Given the description of an element on the screen output the (x, y) to click on. 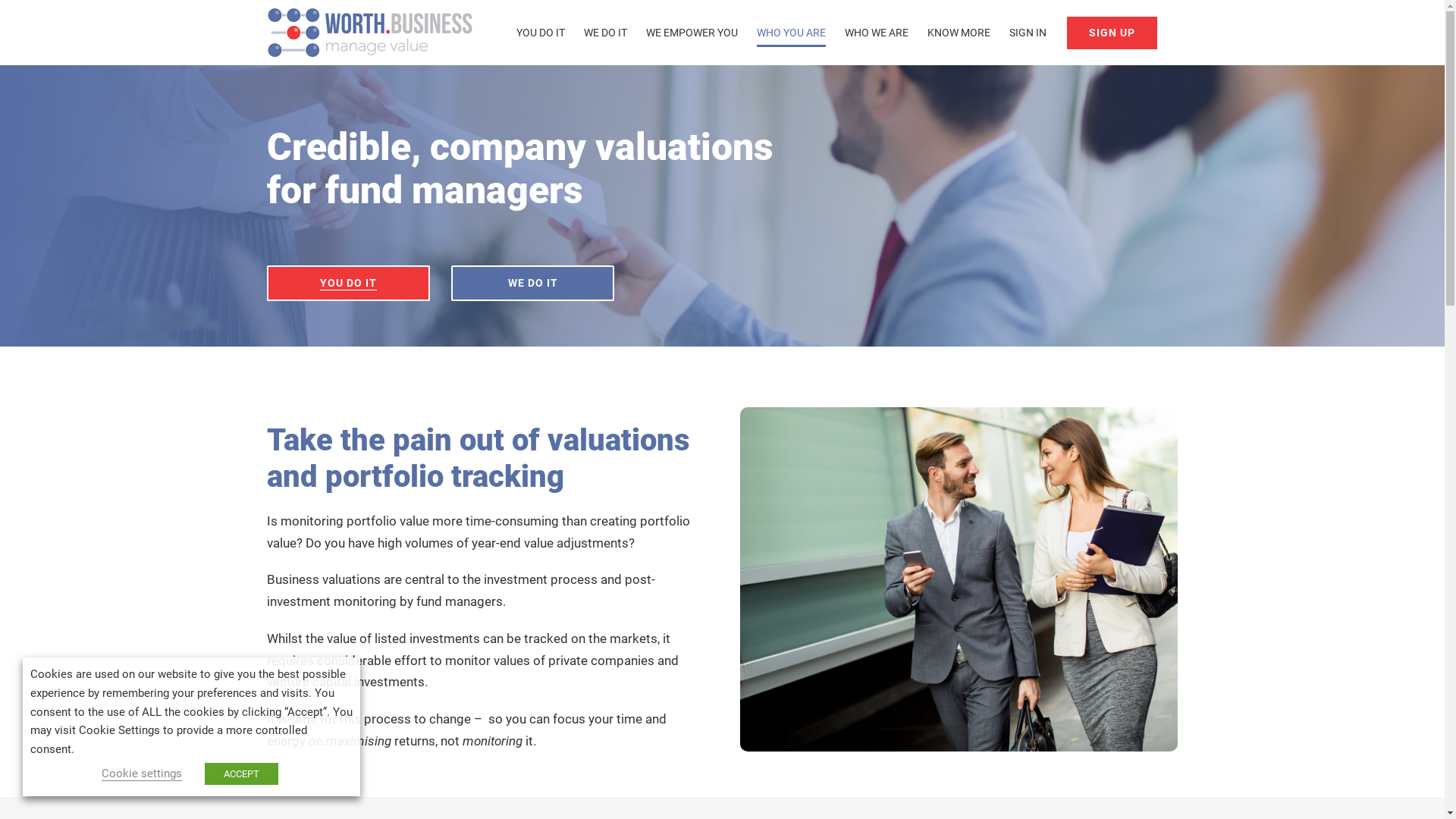
SIGN IN Element type: text (1026, 32)
YOU DO IT Element type: text (539, 32)
WE DO IT Element type: text (532, 283)
WE EMPOWER YOU Element type: text (691, 32)
WHO WE ARE Element type: text (876, 32)
YOU DO IT Element type: text (347, 283)
WE DO IT Element type: text (605, 32)
WHO YOU ARE Element type: text (790, 32)
KNOW MORE Element type: text (957, 32)
SIGN UP Element type: text (1110, 32)
Cookie settings Element type: text (141, 773)
ACCEPT Element type: text (241, 773)
